Given the description of an element on the screen output the (x, y) to click on. 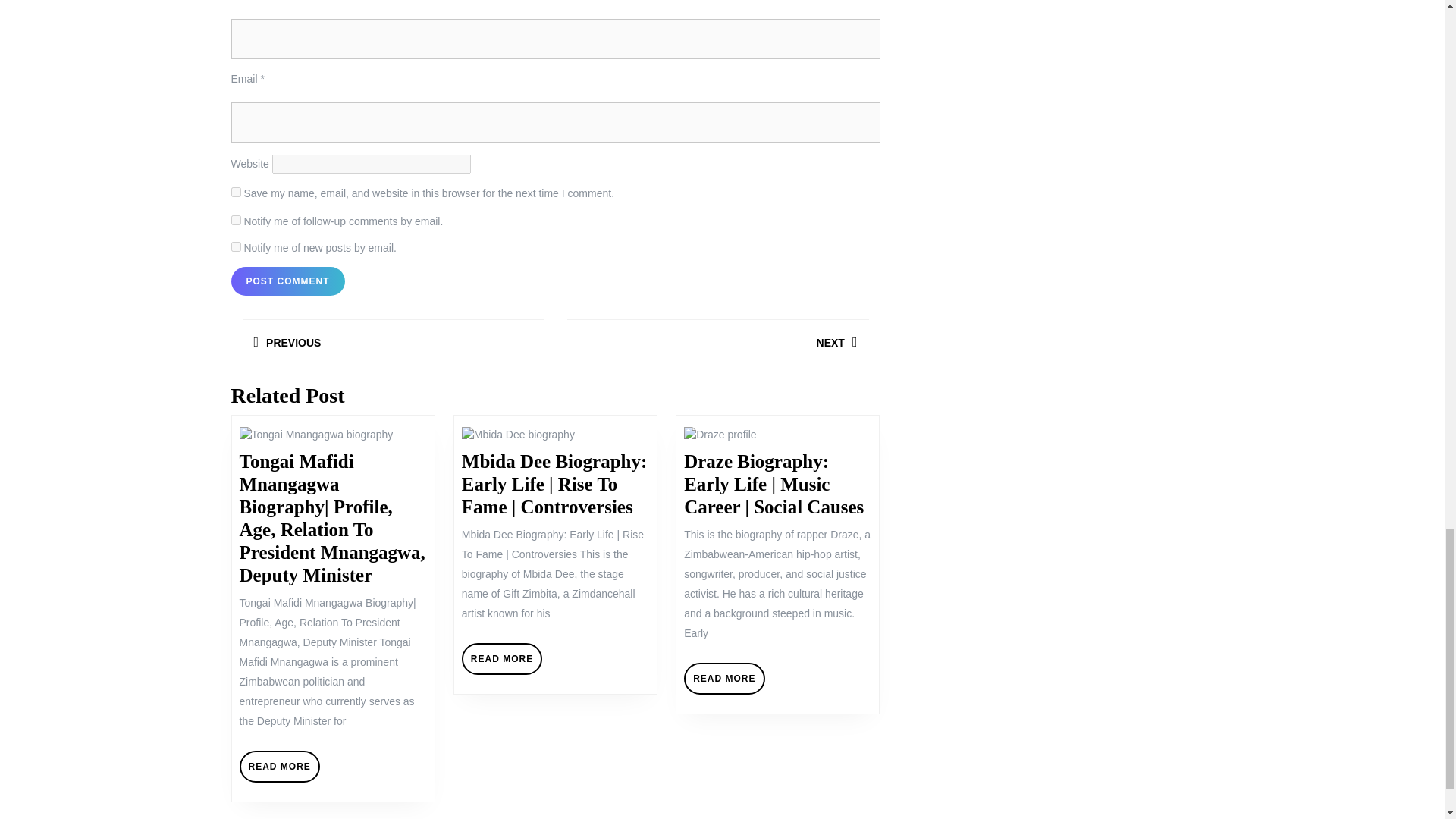
Post Comment (286, 280)
subscribe (235, 220)
Post Comment (716, 345)
yes (280, 766)
subscribe (286, 280)
